Given the description of an element on the screen output the (x, y) to click on. 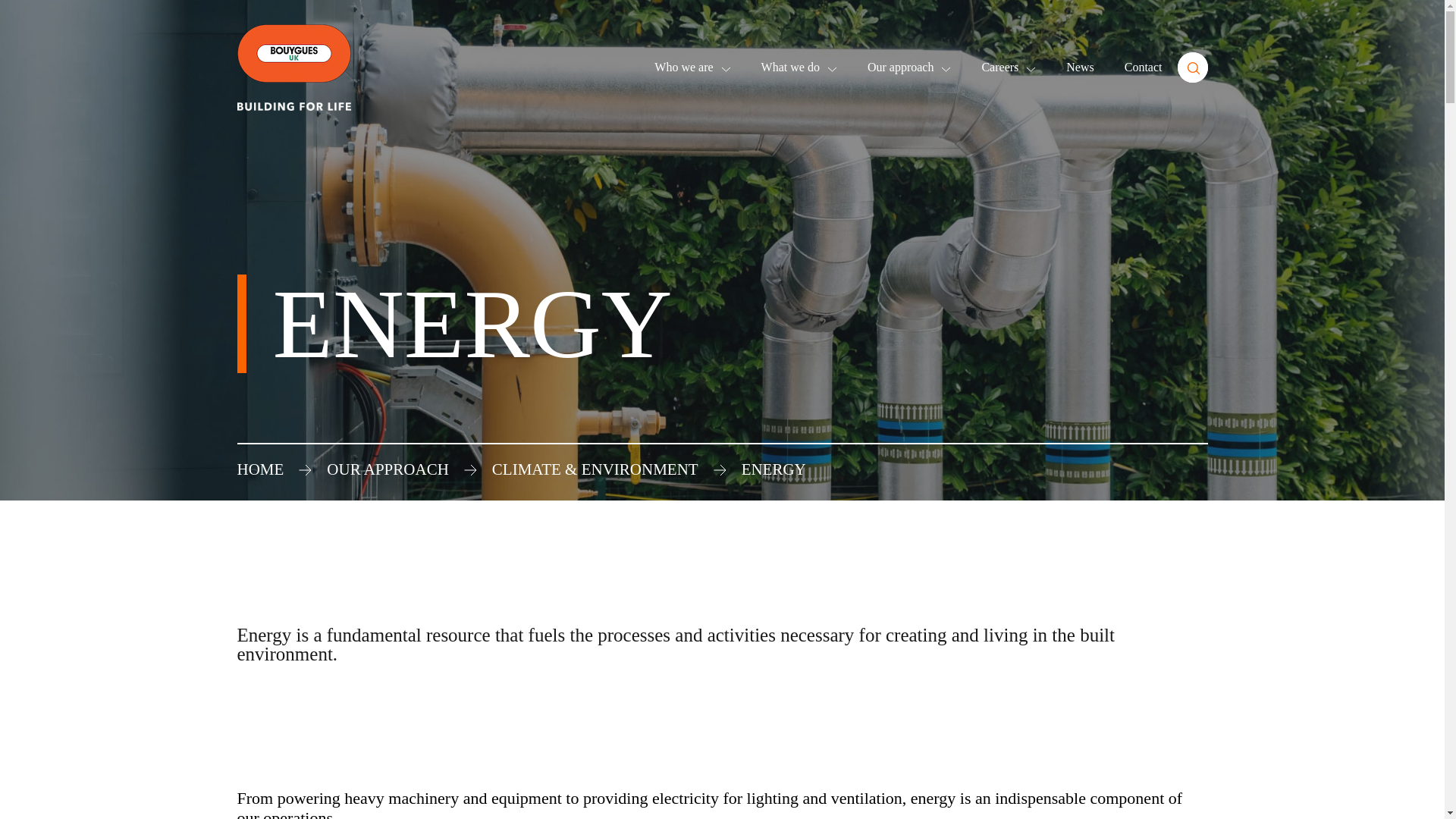
OUR APPROACH (387, 469)
Contact (1142, 66)
Bouygues UK (292, 67)
News (1079, 66)
Who we are (691, 67)
HOME (259, 469)
main menu (1191, 67)
What we do (799, 67)
Careers (1008, 67)
ENERGY (773, 469)
Our approach (909, 67)
